Given the description of an element on the screen output the (x, y) to click on. 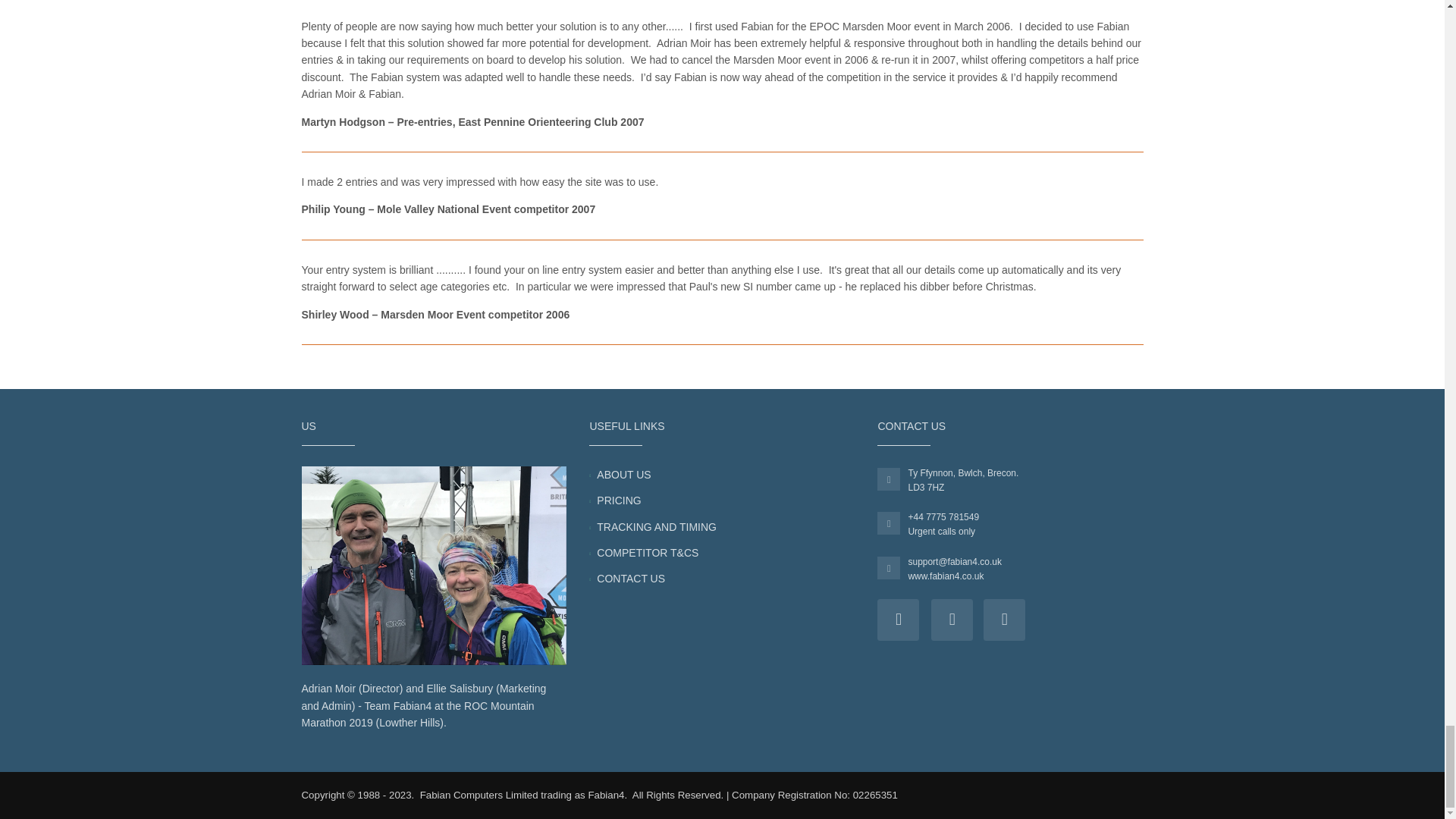
www.fabian4.co.uk (945, 575)
CONTACT US (630, 578)
ABOUT US (623, 474)
PRICING (618, 500)
TRACKING AND TIMING (656, 526)
